Given the description of an element on the screen output the (x, y) to click on. 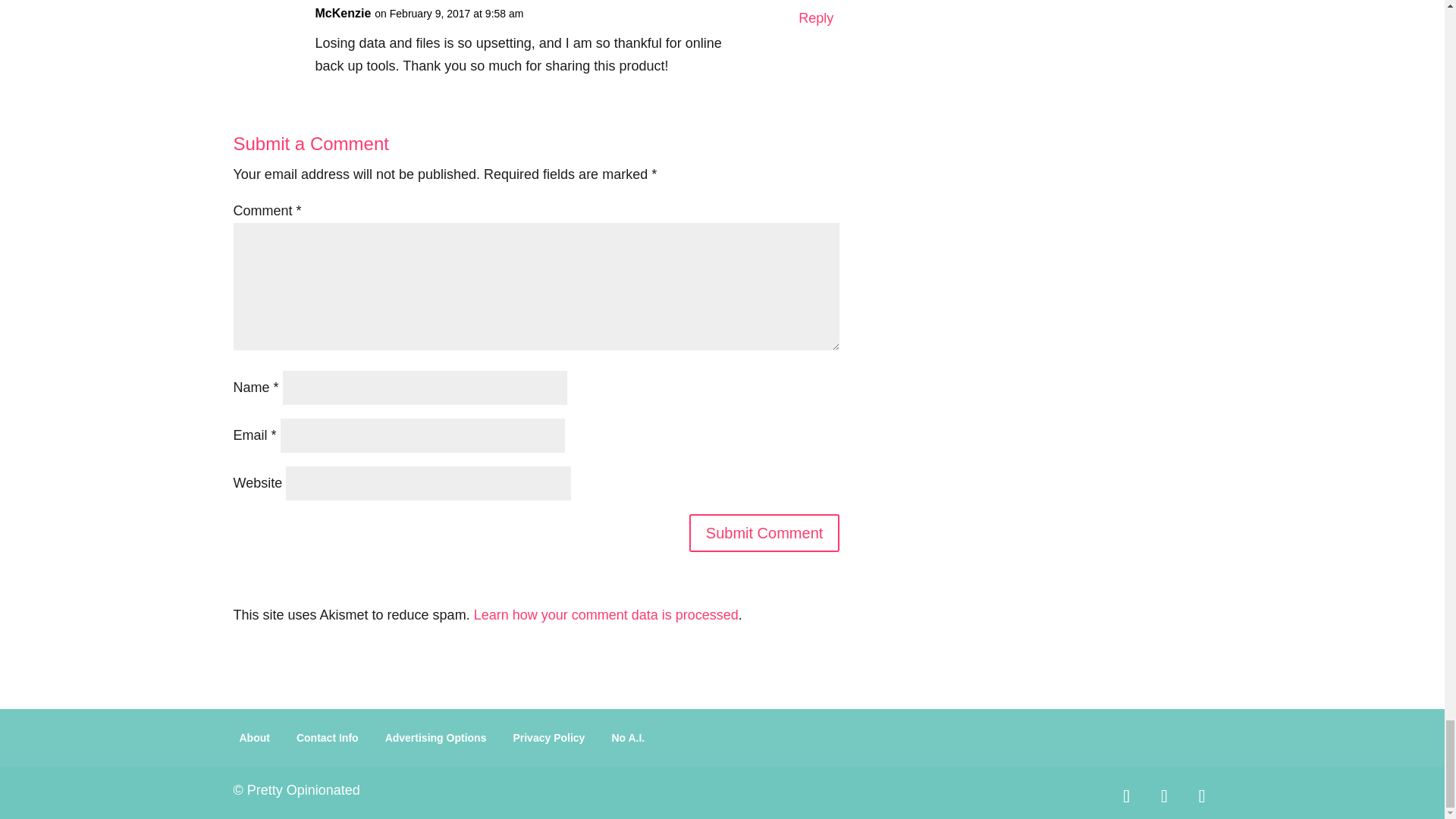
Submit Comment (764, 533)
